Given the description of an element on the screen output the (x, y) to click on. 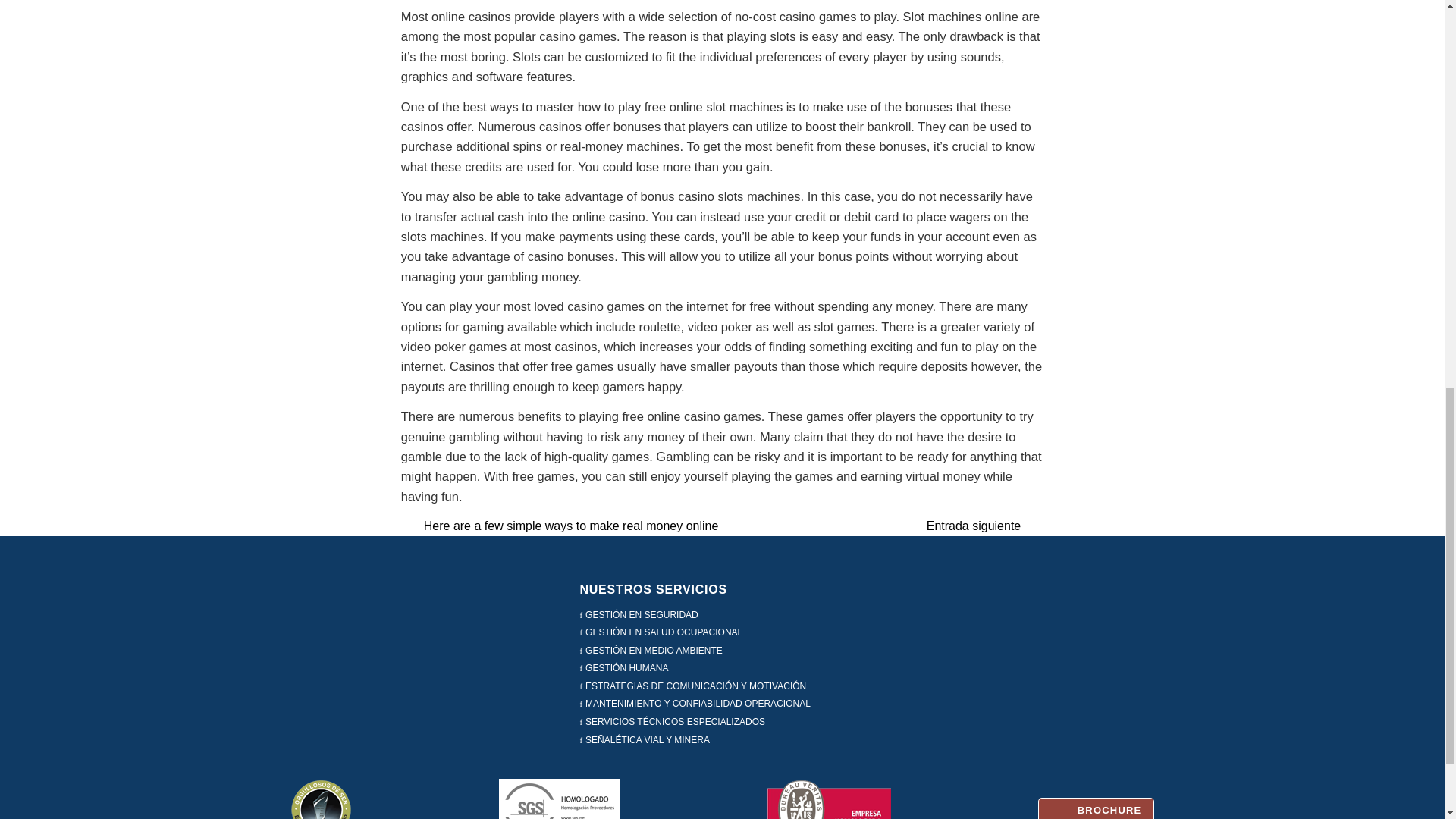
  BROCHURE (1096, 808)
MANTENIMIENTO Y CONFIABILIDAD OPERACIONAL (698, 703)
